Given the description of an element on the screen output the (x, y) to click on. 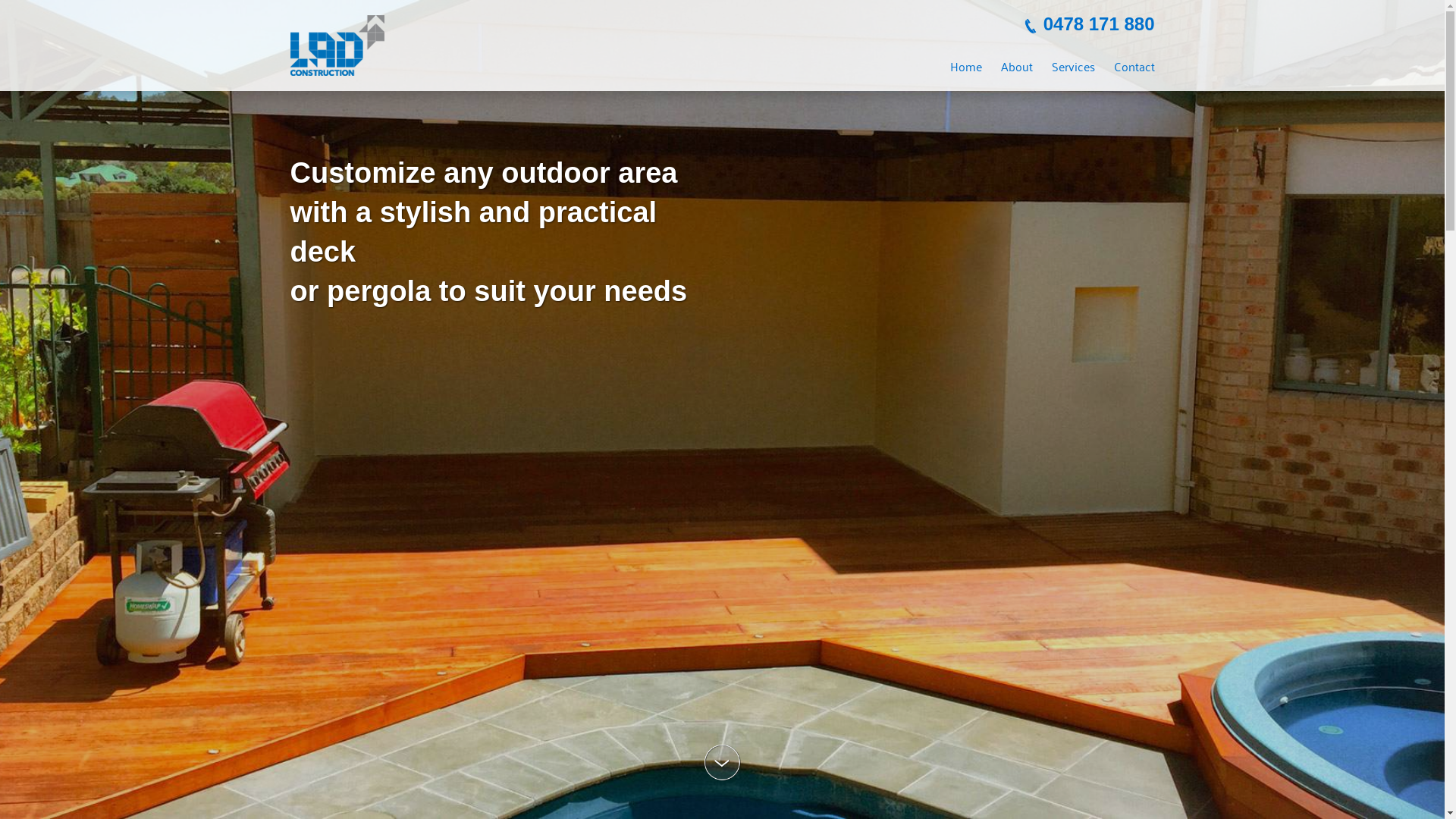
Services Element type: text (1072, 65)
About Element type: text (1016, 65)
Home Element type: text (965, 65)
Contact Element type: text (1133, 65)
